Given the description of an element on the screen output the (x, y) to click on. 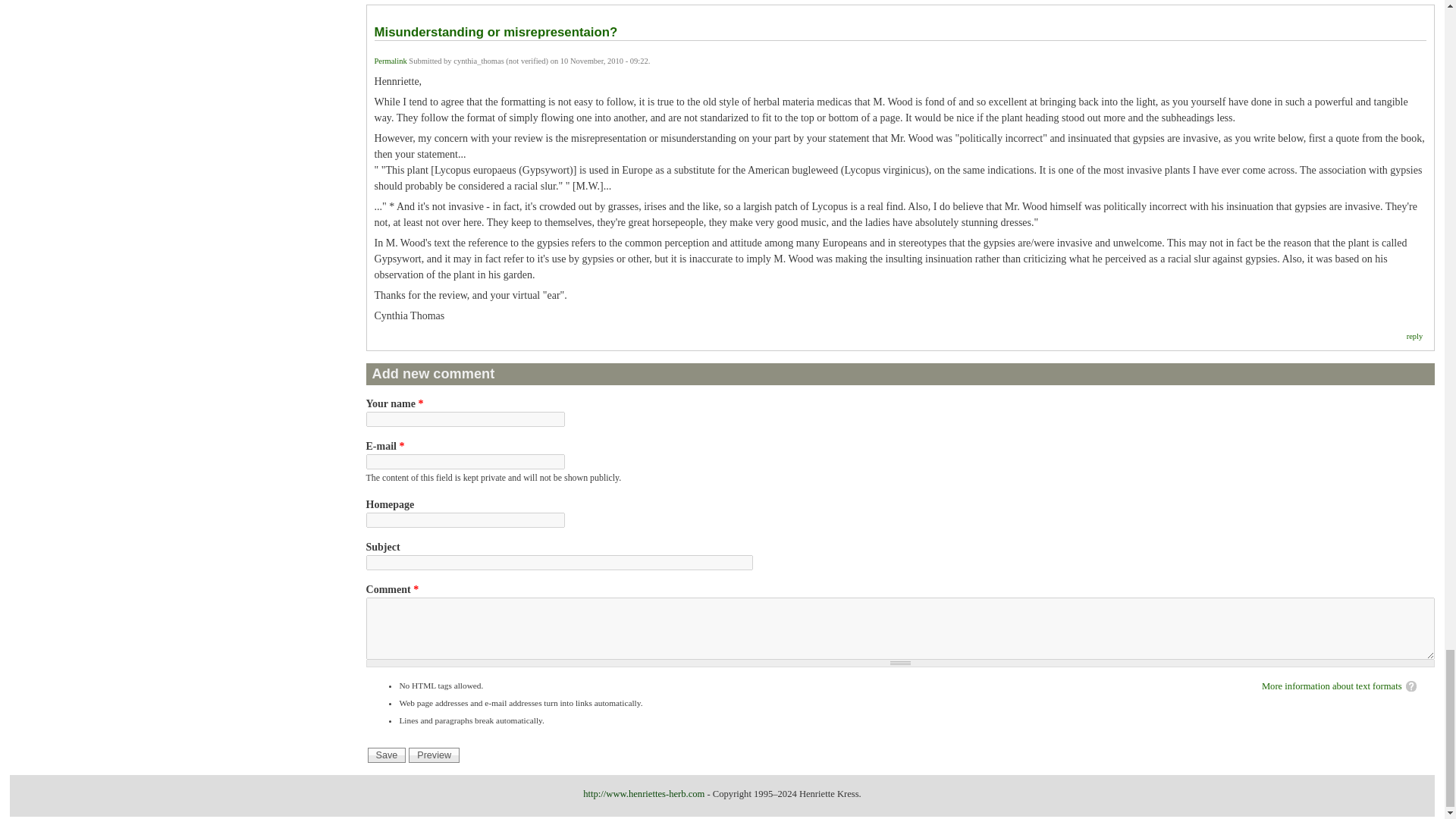
Save (387, 754)
Preview (434, 754)
